Given the description of an element on the screen output the (x, y) to click on. 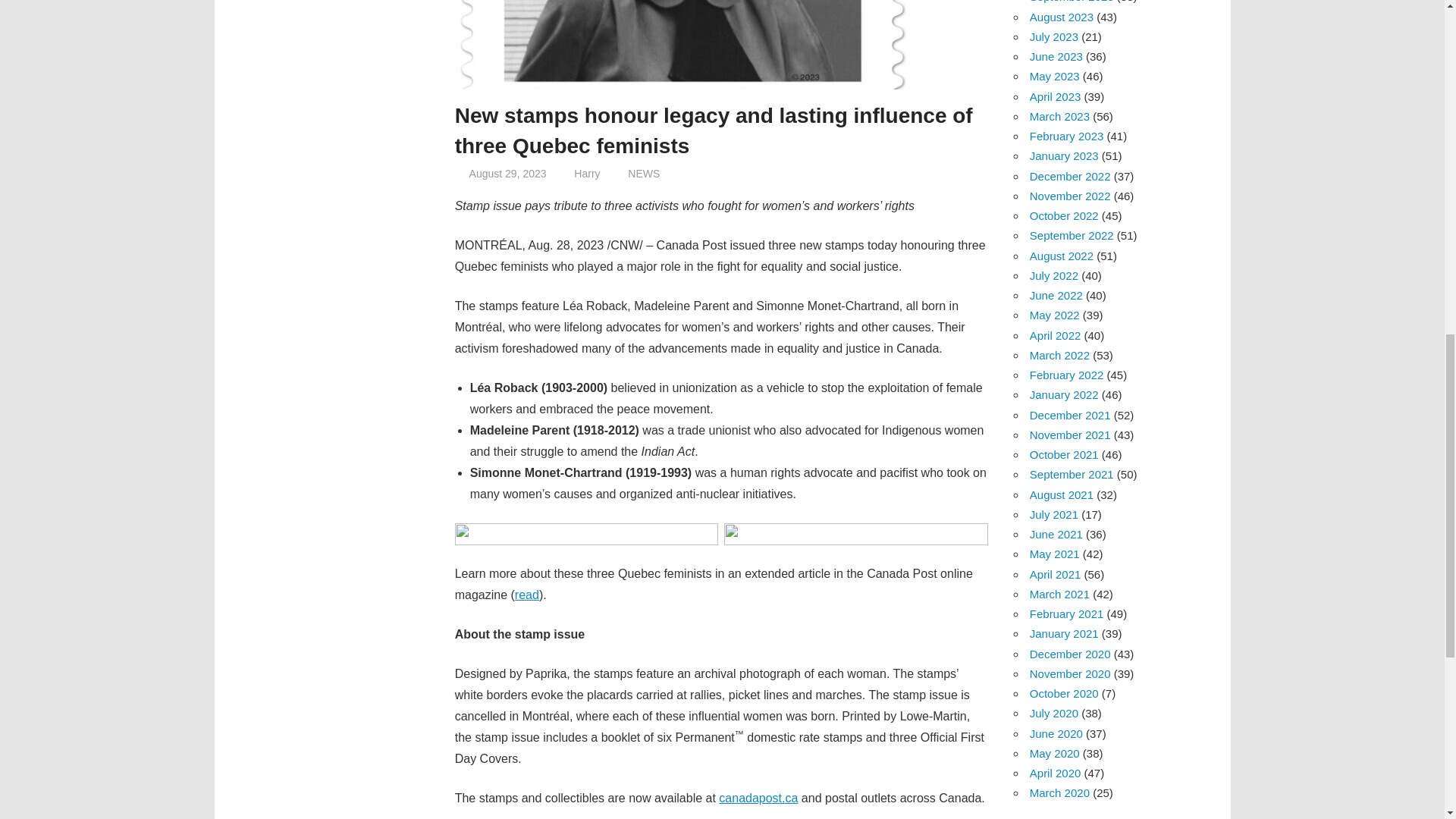
March 2023 (1059, 115)
View all posts by Harry (586, 173)
September 2023 (1071, 1)
read (526, 594)
April 2023 (1055, 96)
May 2023 (1054, 75)
canadapost.ca (758, 797)
August 29, 2023 (507, 173)
NEWS (643, 173)
Harry (586, 173)
12:44 pm (507, 173)
July 2023 (1053, 36)
August 2023 (1061, 16)
June 2023 (1056, 56)
